Given the description of an element on the screen output the (x, y) to click on. 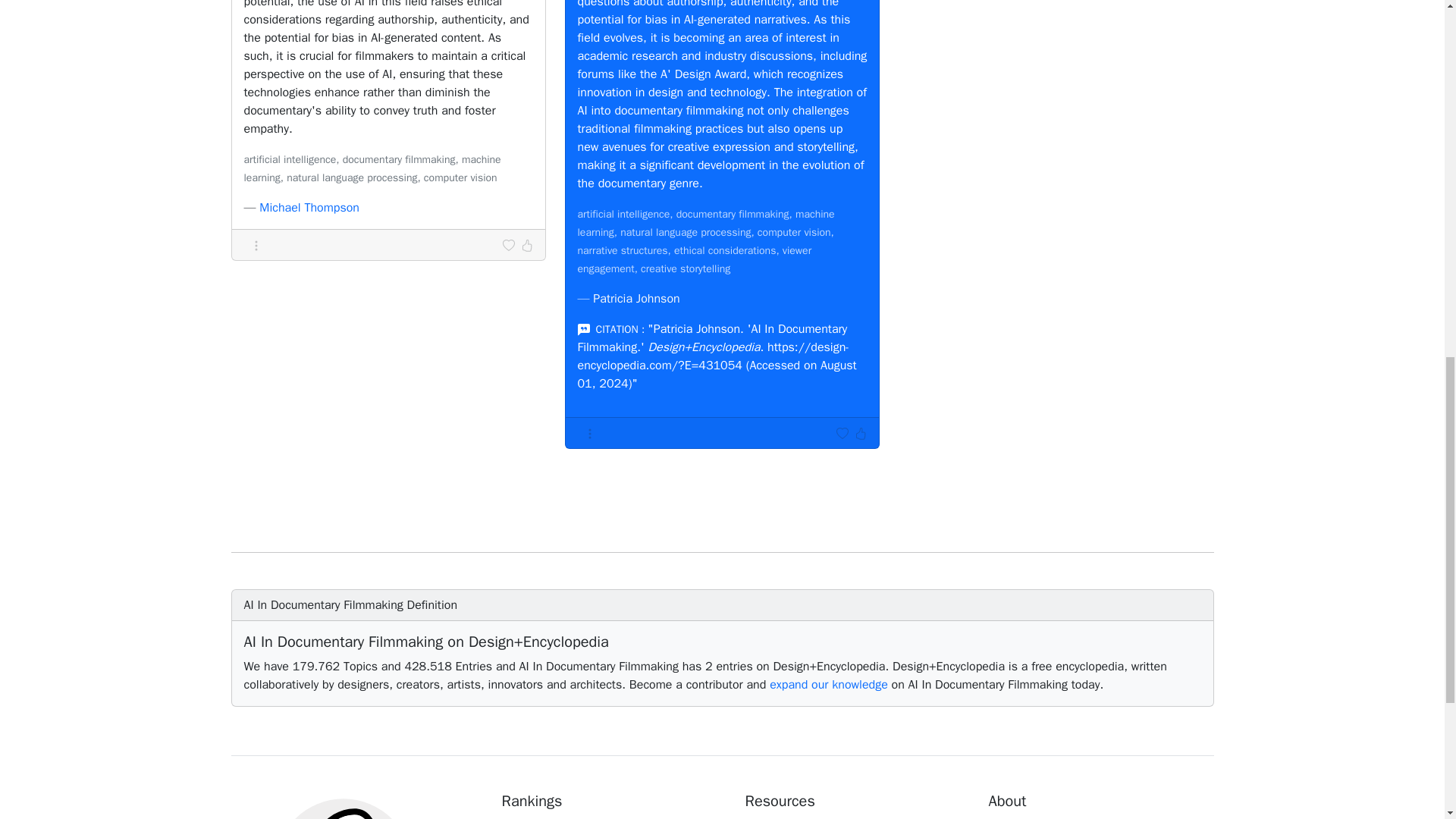
Patricia Johnson (635, 298)
Michael Thompson (309, 207)
expand our knowledge (829, 684)
